Given the description of an element on the screen output the (x, y) to click on. 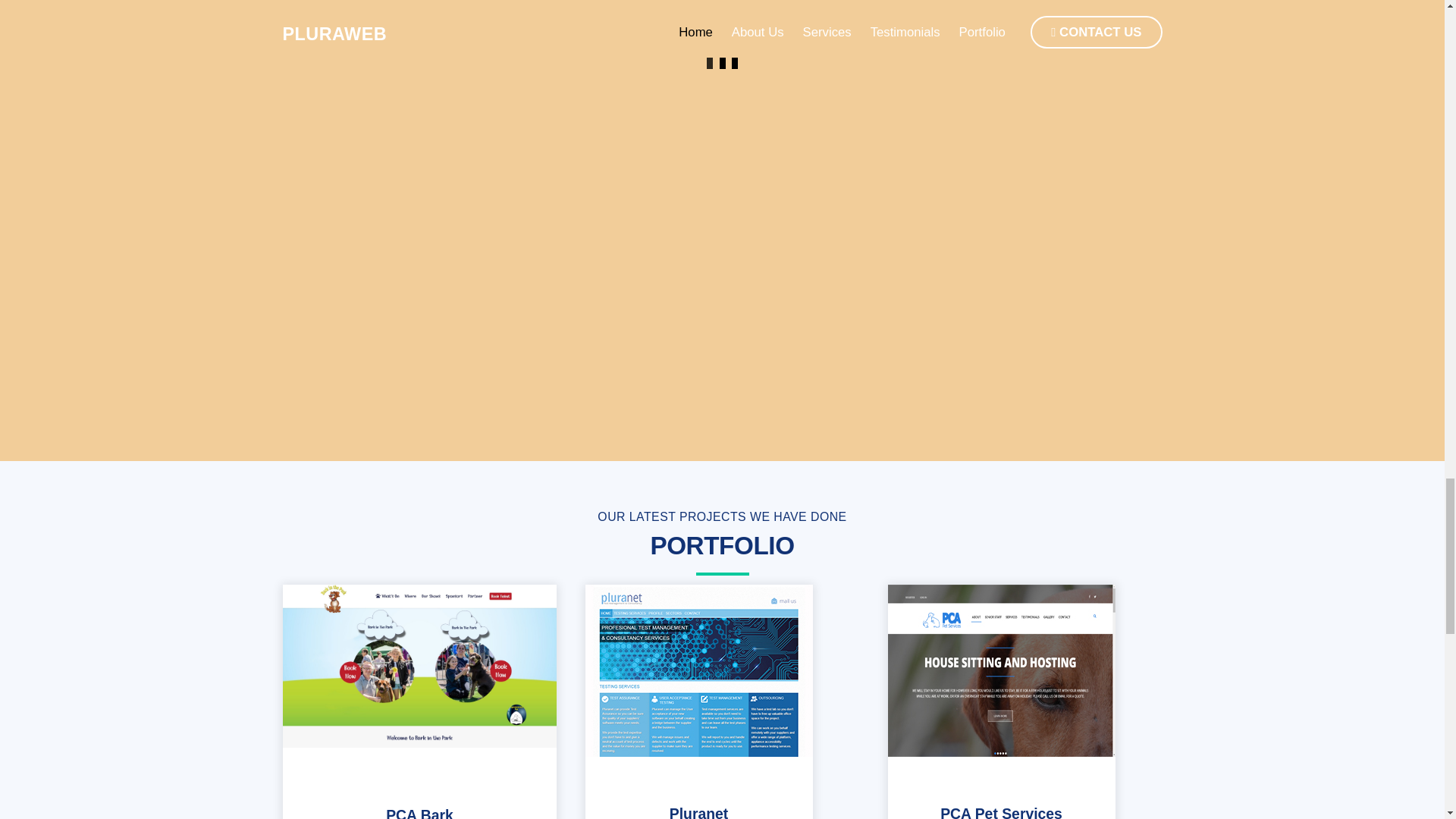
PCA Bark (418, 812)
Pluranet (698, 670)
PCA Pet Services (1001, 812)
PCA Pet Services (1001, 670)
Pluranet (698, 812)
PCA Bark (419, 665)
